Given the description of an element on the screen output the (x, y) to click on. 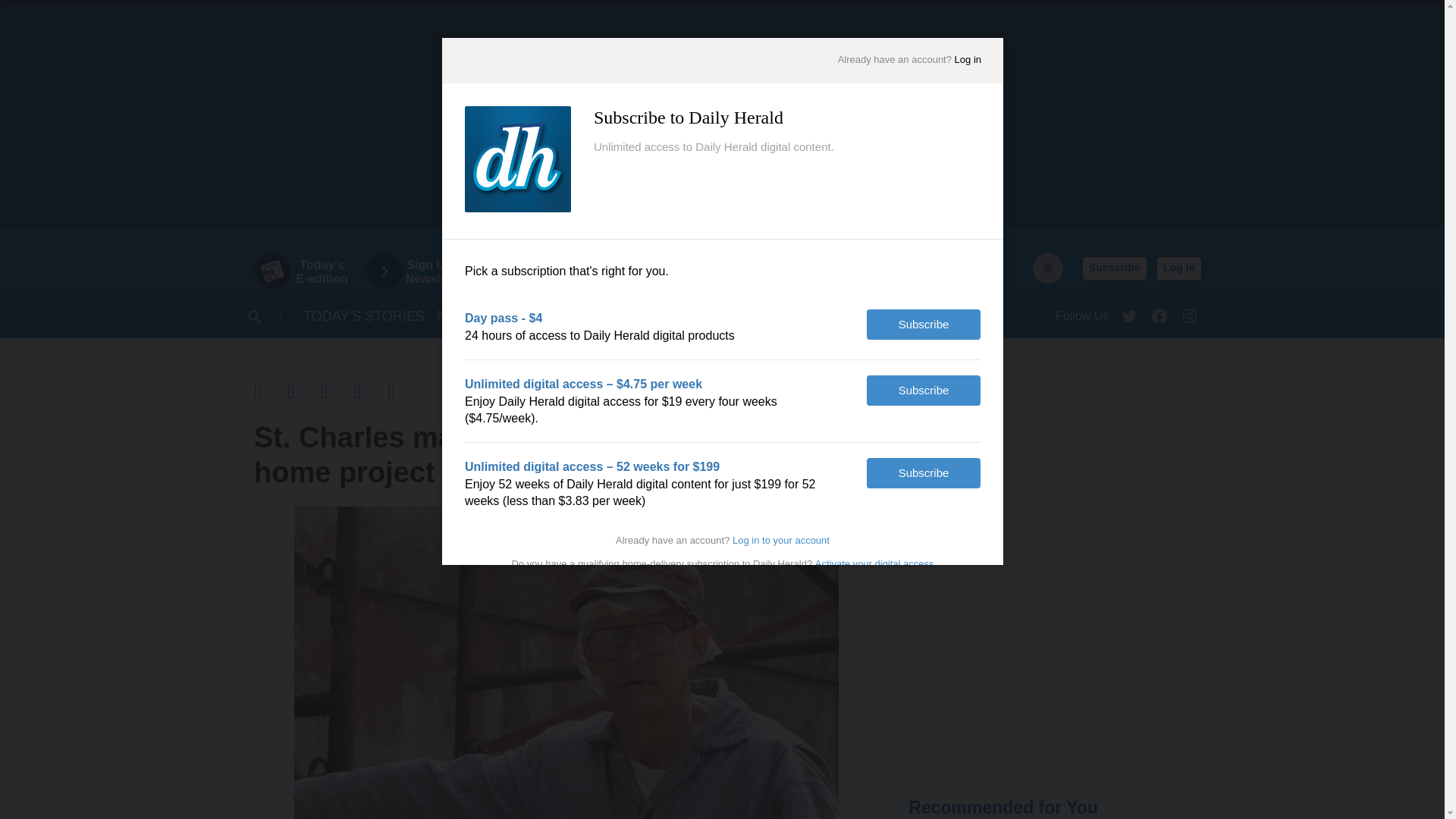
Sign Up for Newsletters (426, 271)
Lifestyle (966, 315)
Subscribe (1114, 268)
Sports (307, 271)
Signup Widget Embed (517, 315)
OPINION (1051, 668)
LIFESTYLE (586, 315)
Instagram (966, 315)
News (1189, 312)
ENTERTAINMENT (456, 315)
3rd party ad content (860, 315)
Share via Email (727, 113)
OBITUARIES (336, 391)
Obituaries (668, 315)
